Given the description of an element on the screen output the (x, y) to click on. 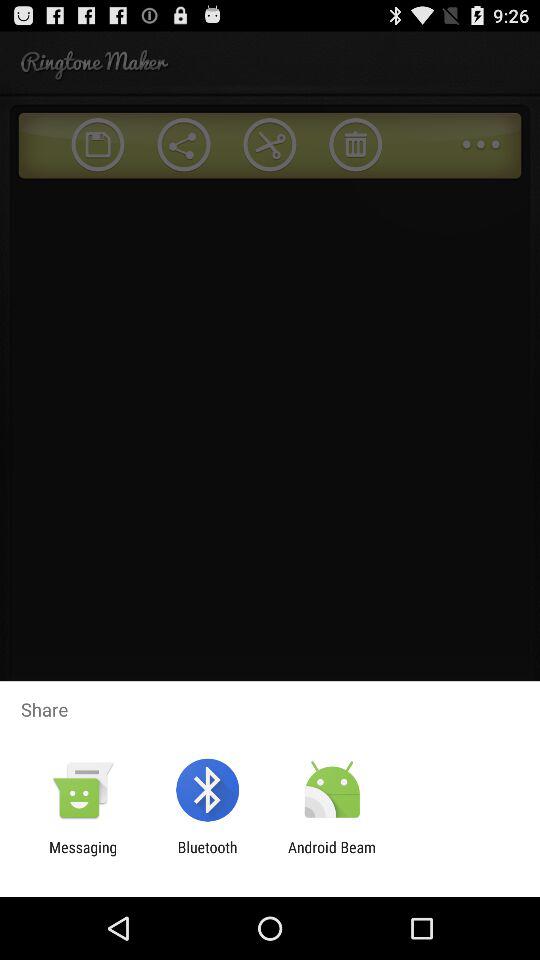
open the android beam item (332, 856)
